Given the description of an element on the screen output the (x, y) to click on. 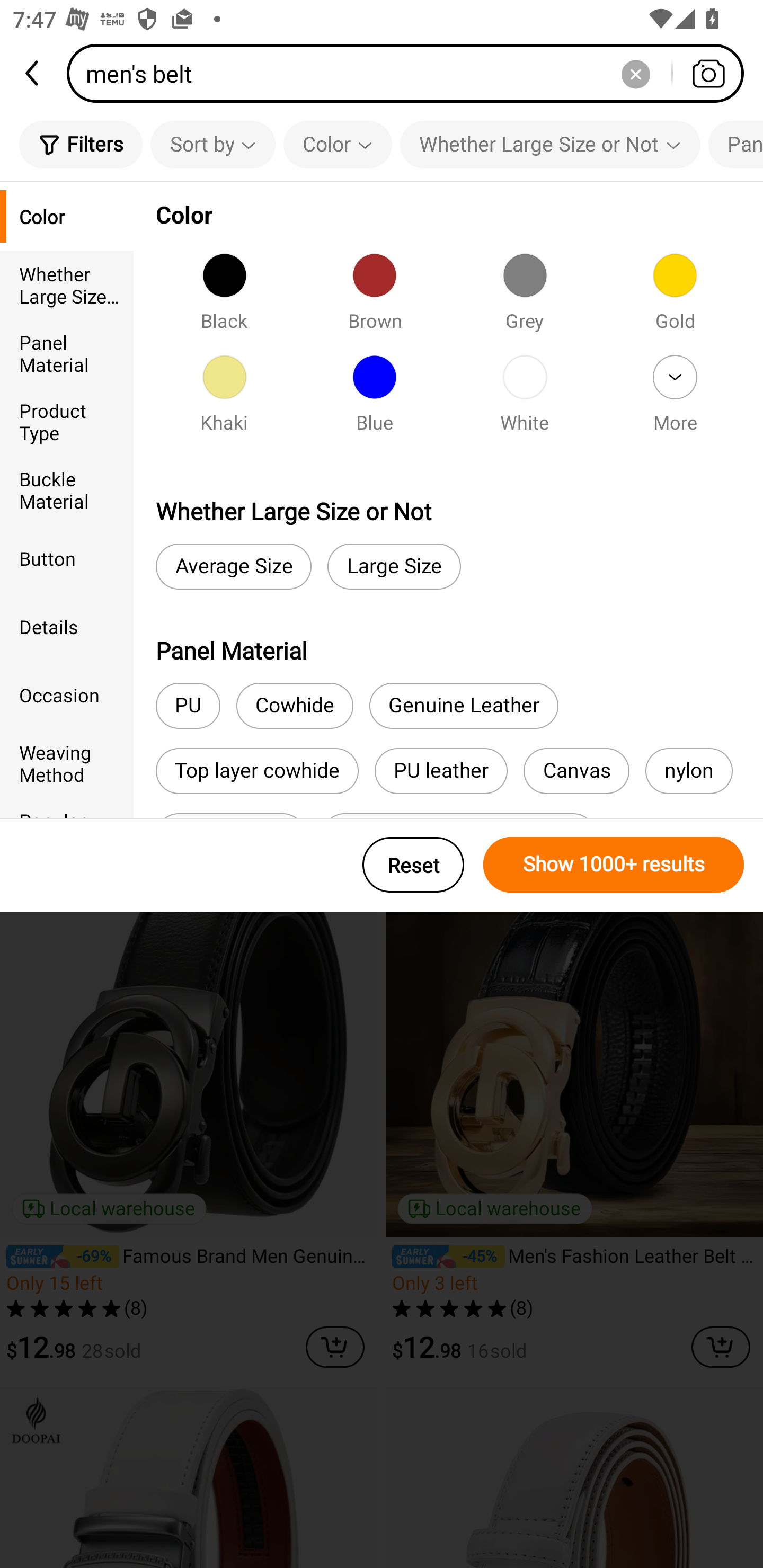
back (33, 72)
men's belt (411, 73)
Delete search history (635, 73)
Search by photo (708, 73)
Filters (80, 143)
Sort by (212, 143)
Color (337, 143)
Whether Large Size or Not (549, 143)
Color (66, 215)
Under $5 (196, 273)
& up (358, 273)
Black (506, 273)
Average Size (633, 273)
Whether Large Size or Not (66, 284)
Panel Material (66, 352)
More (674, 399)
Product Type (66, 421)
Buckle Material (66, 489)
Button (66, 557)
Average Size (233, 566)
Large Size (393, 566)
Details (66, 626)
Occasion (66, 694)
PU (187, 705)
Cowhide (294, 705)
Genuine Leather (463, 705)
Weaving Method (66, 762)
Top layer cowhide (256, 770)
PU leather (440, 770)
Canvas (576, 770)
nylon (688, 770)
Reset (412, 864)
Show 1000+ results (612, 864)
